Given the description of an element on the screen output the (x, y) to click on. 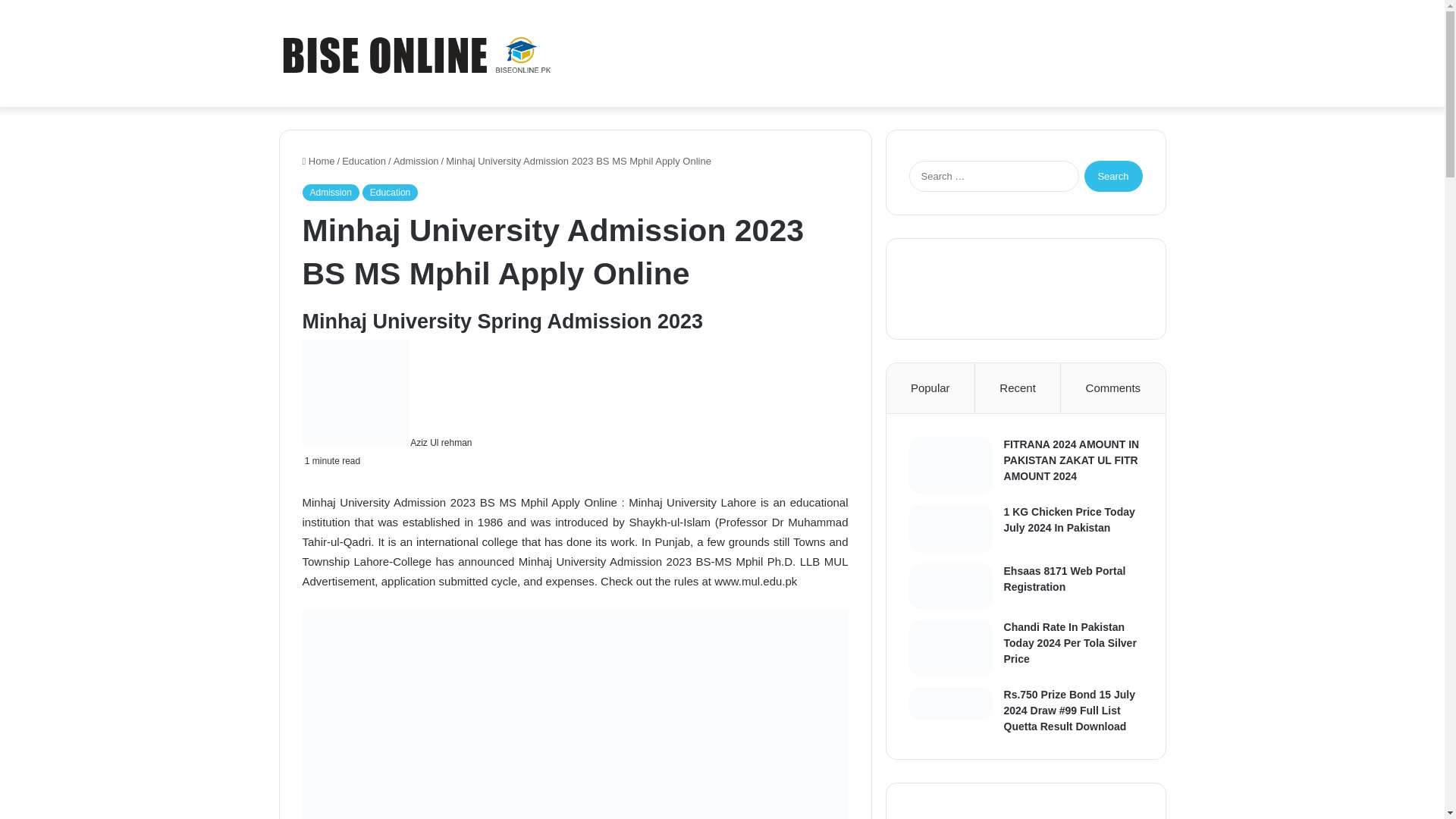
Aziz Ul rehman (440, 442)
Aziz Ul rehman (440, 442)
Home (317, 161)
Minhaj University Admission 2023 BS MS Mphil Apply Online 1 (574, 714)
Admission (416, 161)
Search (1113, 175)
Education (363, 161)
Admission (329, 192)
Search (1113, 175)
Education (389, 192)
